Given the description of an element on the screen output the (x, y) to click on. 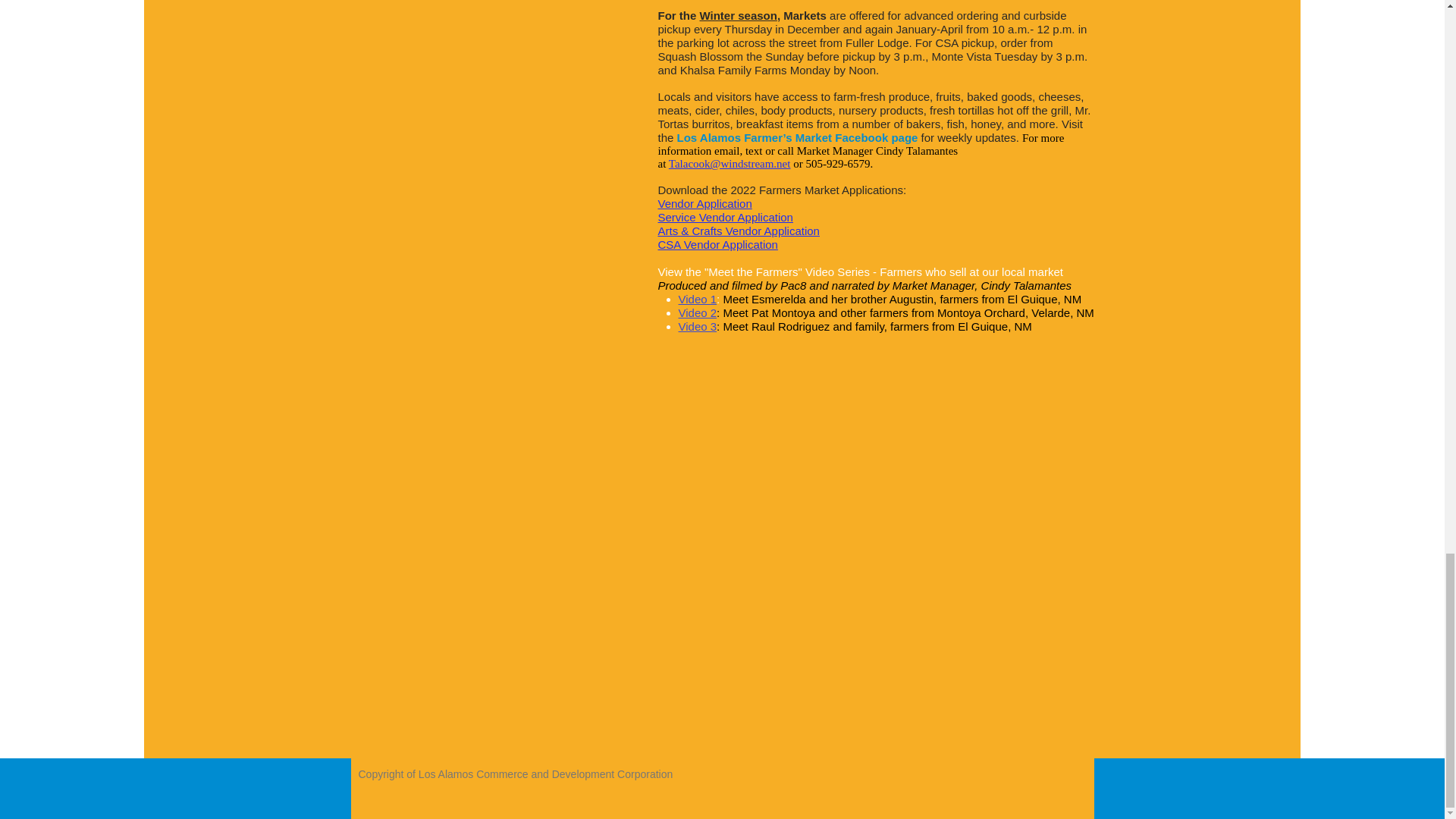
Service Vendor Application (725, 217)
Video 3 (697, 326)
CSA Vendor Application (717, 244)
Vendor Application (705, 203)
Video 2 (697, 312)
Video 1 (697, 298)
